Given the description of an element on the screen output the (x, y) to click on. 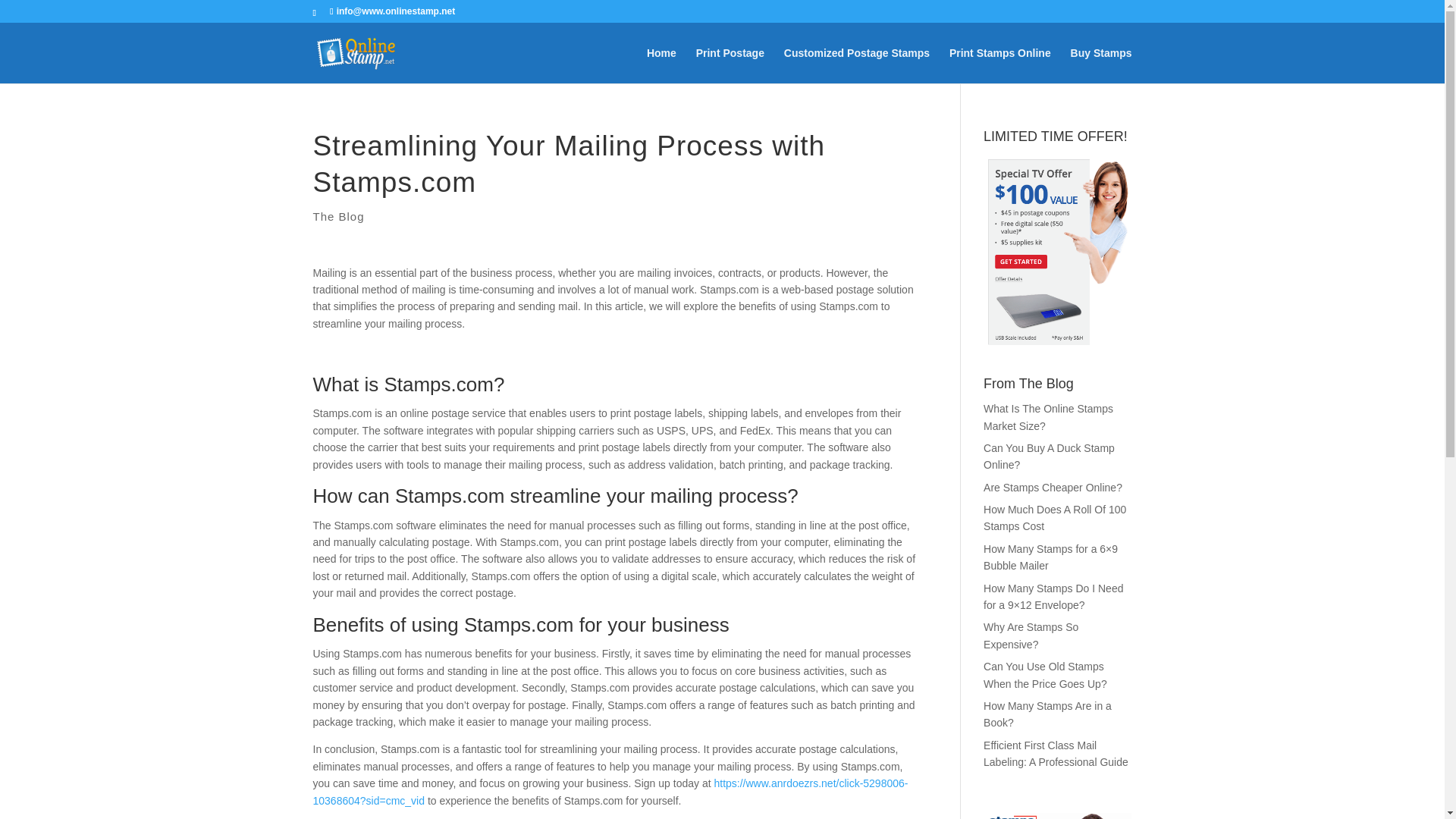
Are Stamps Cheaper Online? (1053, 487)
Print Postage (729, 65)
The Blog (338, 215)
Customized Postage Stamps (857, 65)
Why Are Stamps So Expensive? (1031, 635)
Can You Buy A Duck Stamp Online? (1049, 456)
How Much Does A Roll Of 100 Stamps Cost (1054, 517)
Efficient First Class Mail Labeling: A Professional Guide (1056, 753)
Print Stamps Online (1000, 65)
How Many Stamps Are in a Book? (1048, 714)
Can You Use Old Stamps When the Price Goes Up? (1045, 674)
Buy Stamps (1101, 65)
What Is The Online Stamps Market Size? (1048, 416)
